Given the description of an element on the screen output the (x, y) to click on. 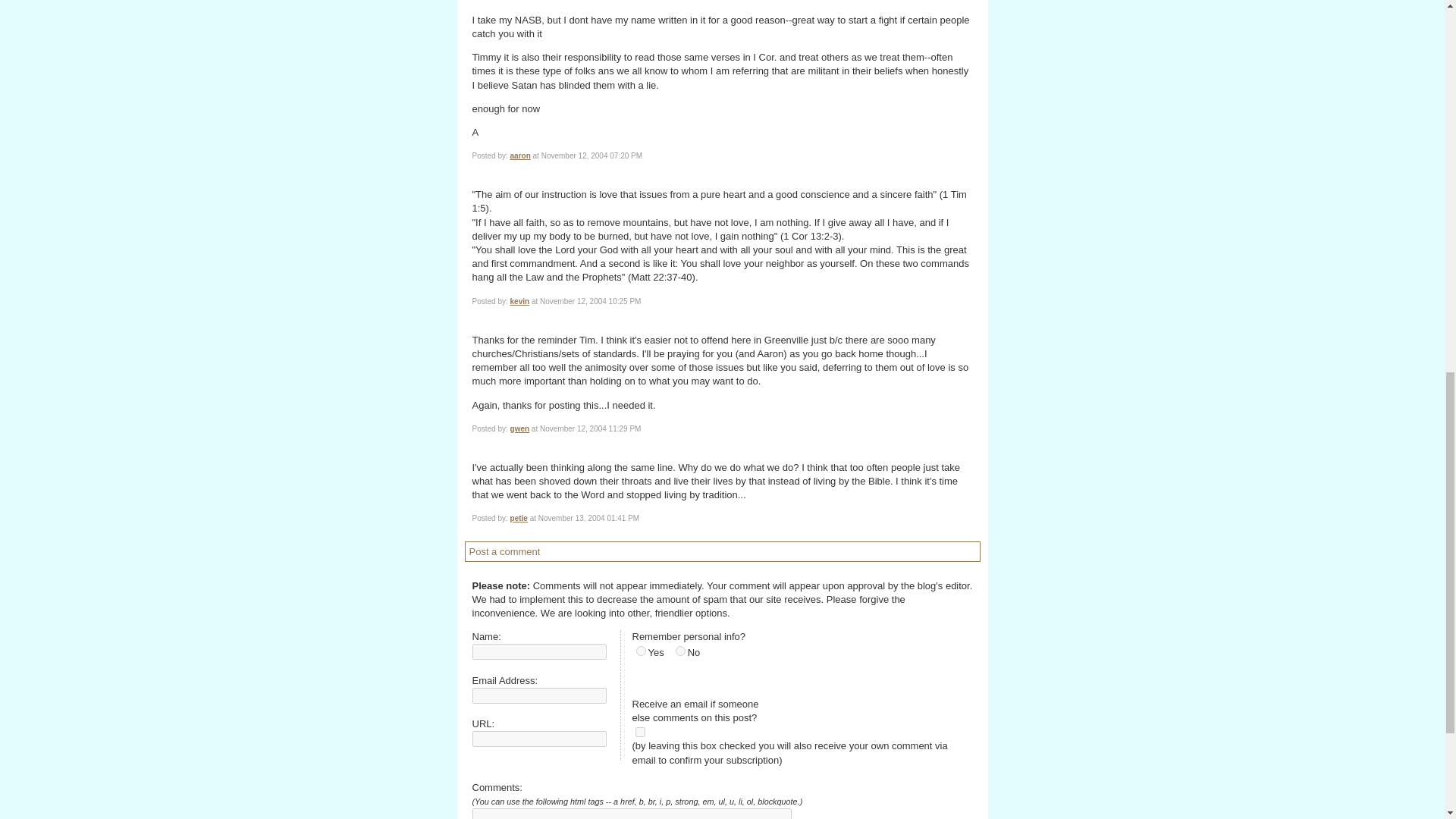
gwen (520, 429)
petie (519, 518)
aaron (521, 155)
kevin (520, 301)
